Given the description of an element on the screen output the (x, y) to click on. 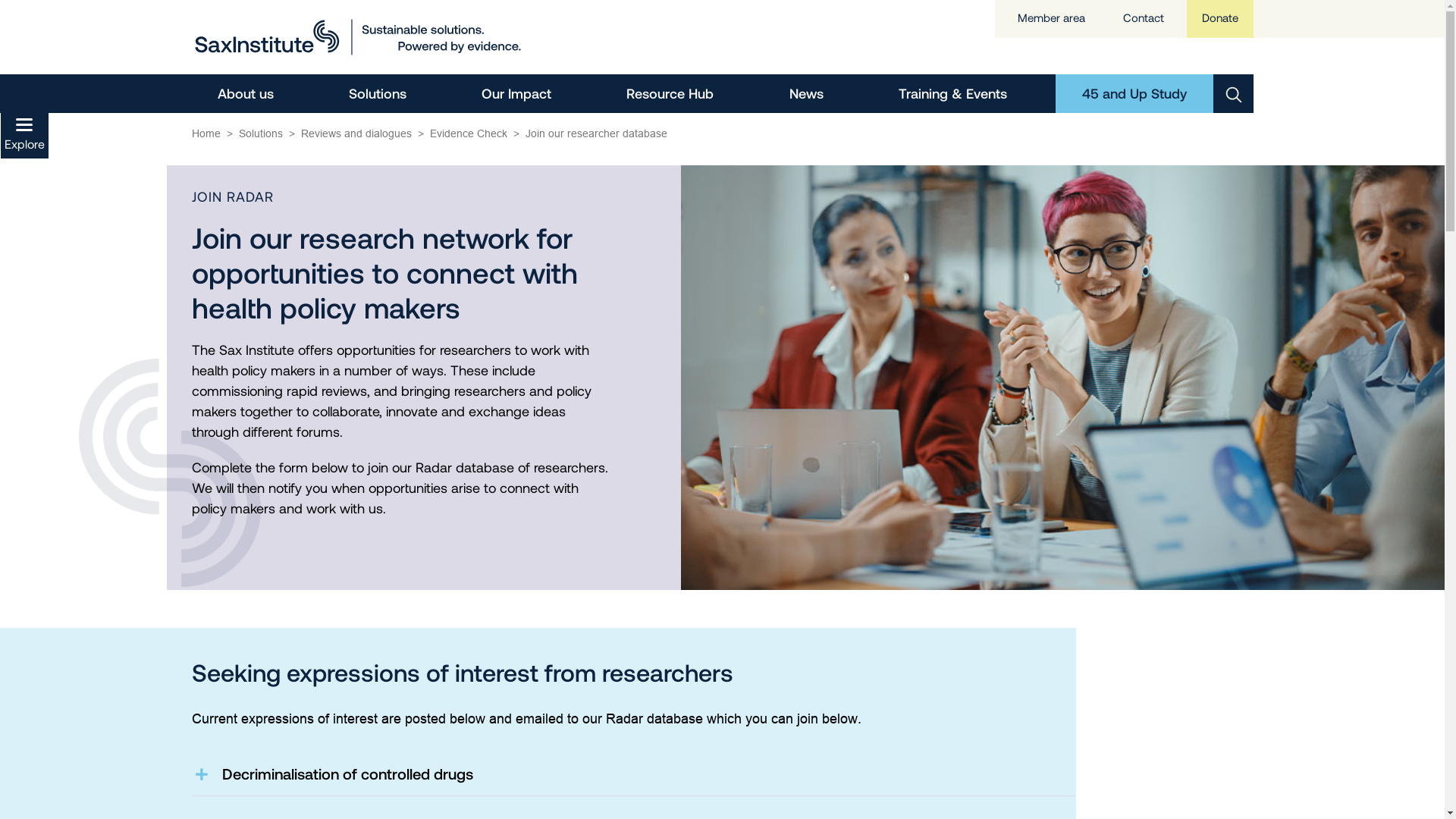
Donate Element type: text (1219, 17)
Contact Element type: text (1142, 17)
Member area Element type: text (1051, 17)
Reviews and dialogues Element type: text (355, 133)
Resource Hub Element type: text (669, 93)
Home Element type: text (205, 133)
Solutions Element type: text (260, 133)
Solutions Element type: text (377, 93)
News Element type: text (806, 93)
Decriminalisation of controlled drugs Element type: text (633, 773)
Our Impact Element type: text (516, 93)
Evidence Check Element type: text (467, 133)
45 and Up Study Element type: text (1134, 93)
About us Element type: text (245, 93)
Training & Events Element type: text (952, 93)
